Given the description of an element on the screen output the (x, y) to click on. 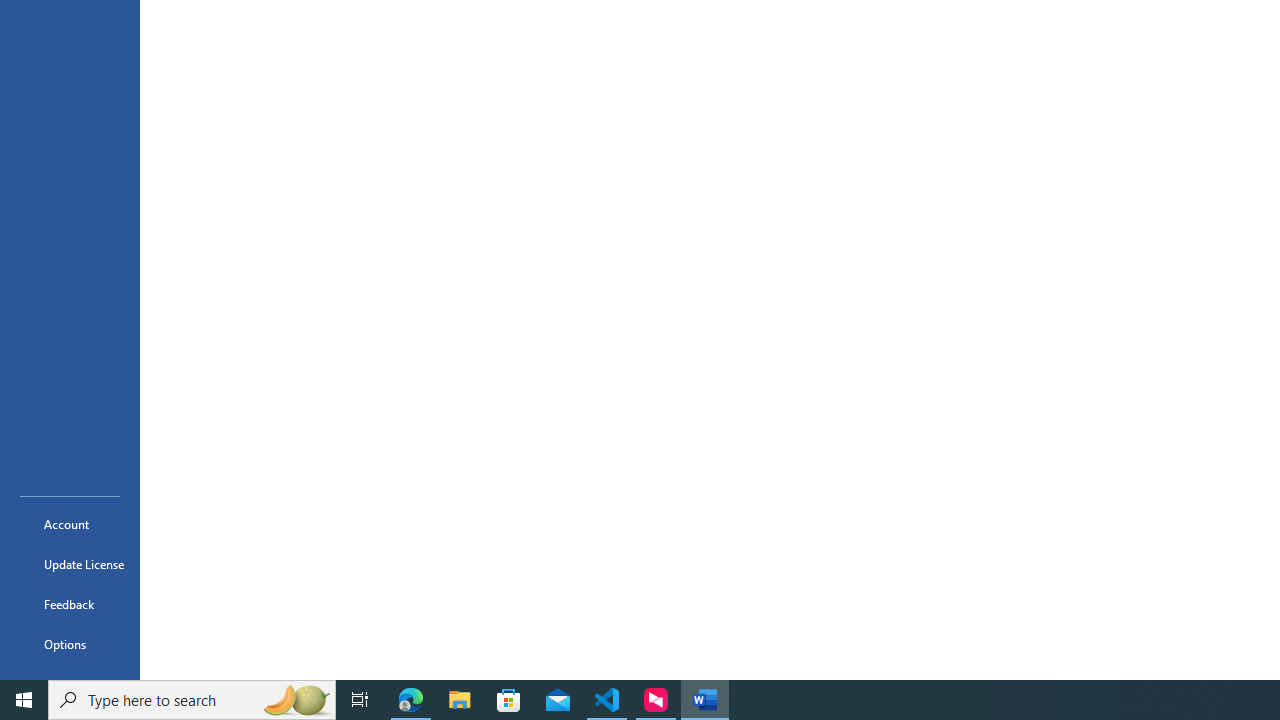
Account (69, 523)
Update License (69, 563)
Feedback (69, 603)
Options (69, 643)
